Given the description of an element on the screen output the (x, y) to click on. 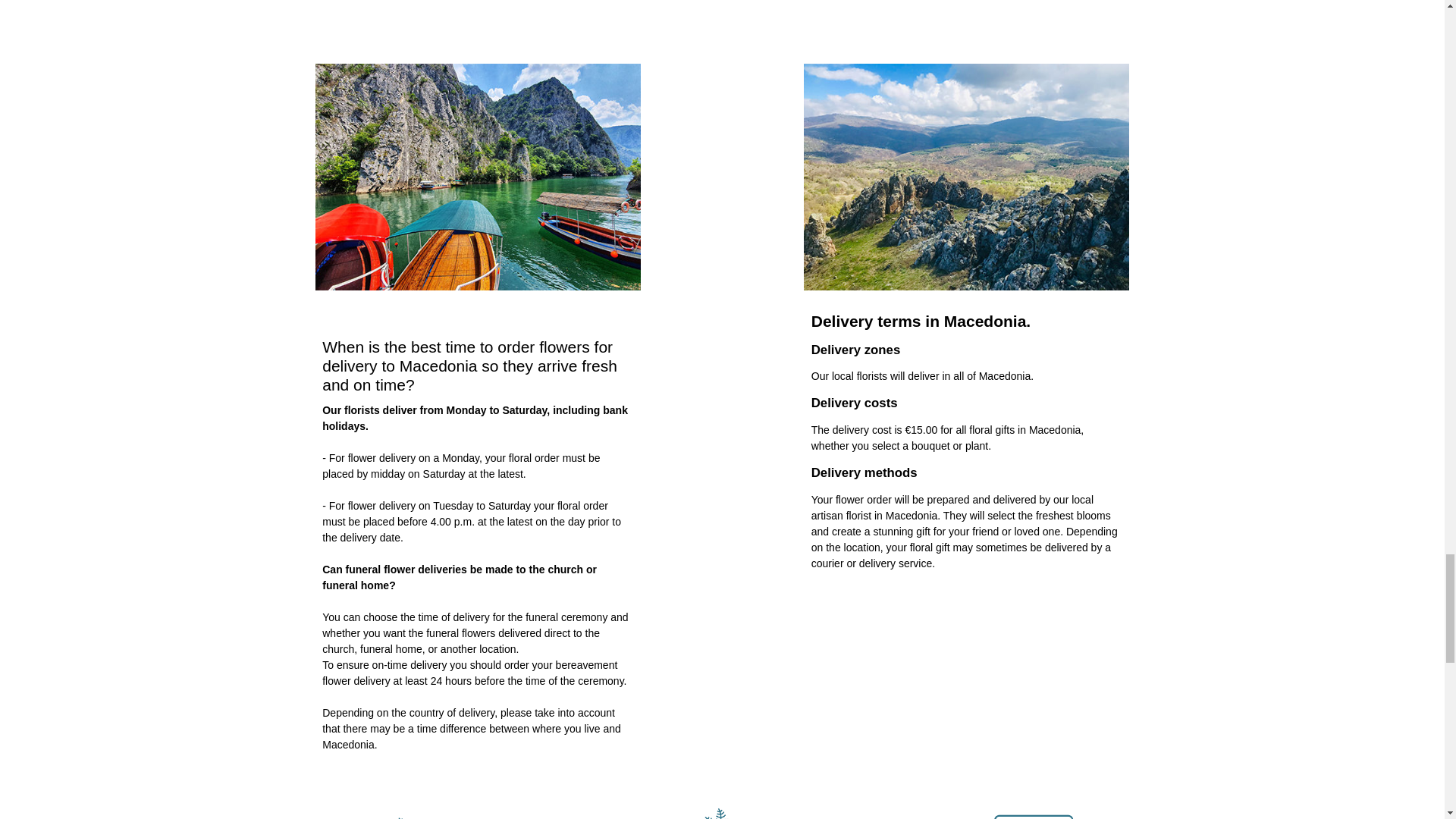
page.universalflower.reinsurance.bloc.3.img.title.text (1033, 806)
page.universalflower.reinsurance.bloc.1.img.title.text (410, 806)
page.universalflower.reinsurance.bloc.2.img.title.text (721, 806)
